Given the description of an element on the screen output the (x, y) to click on. 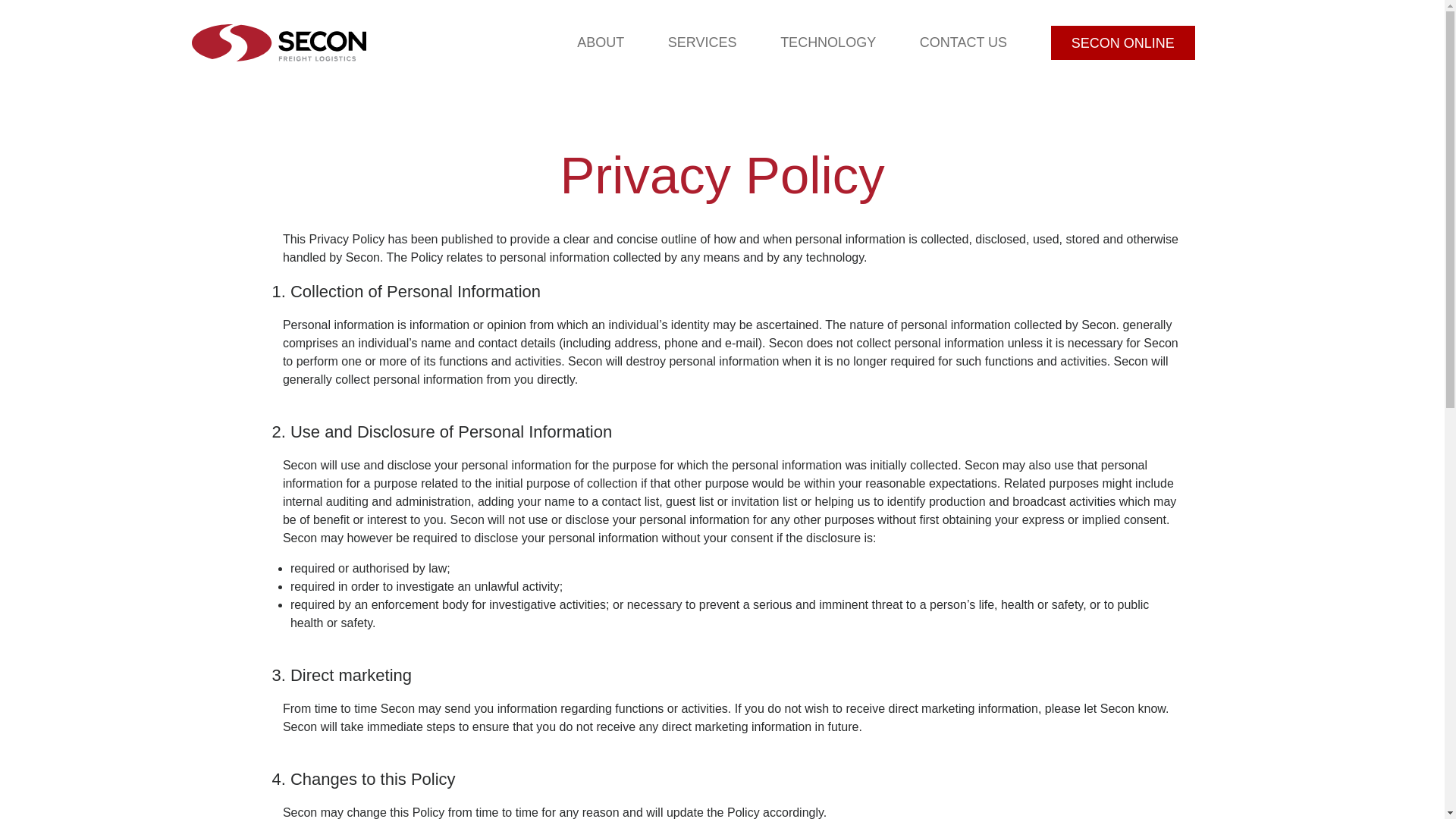
ABOUT (600, 42)
SERVICES (702, 42)
CONTACT US (963, 42)
TECHNOLOGY (828, 42)
SERVICES (702, 42)
SECON ONLINE (1123, 42)
TECHNOLOGY (828, 42)
CONTACT US (963, 42)
SECON ONLINE (1123, 42)
ABOUT (600, 42)
